Given the description of an element on the screen output the (x, y) to click on. 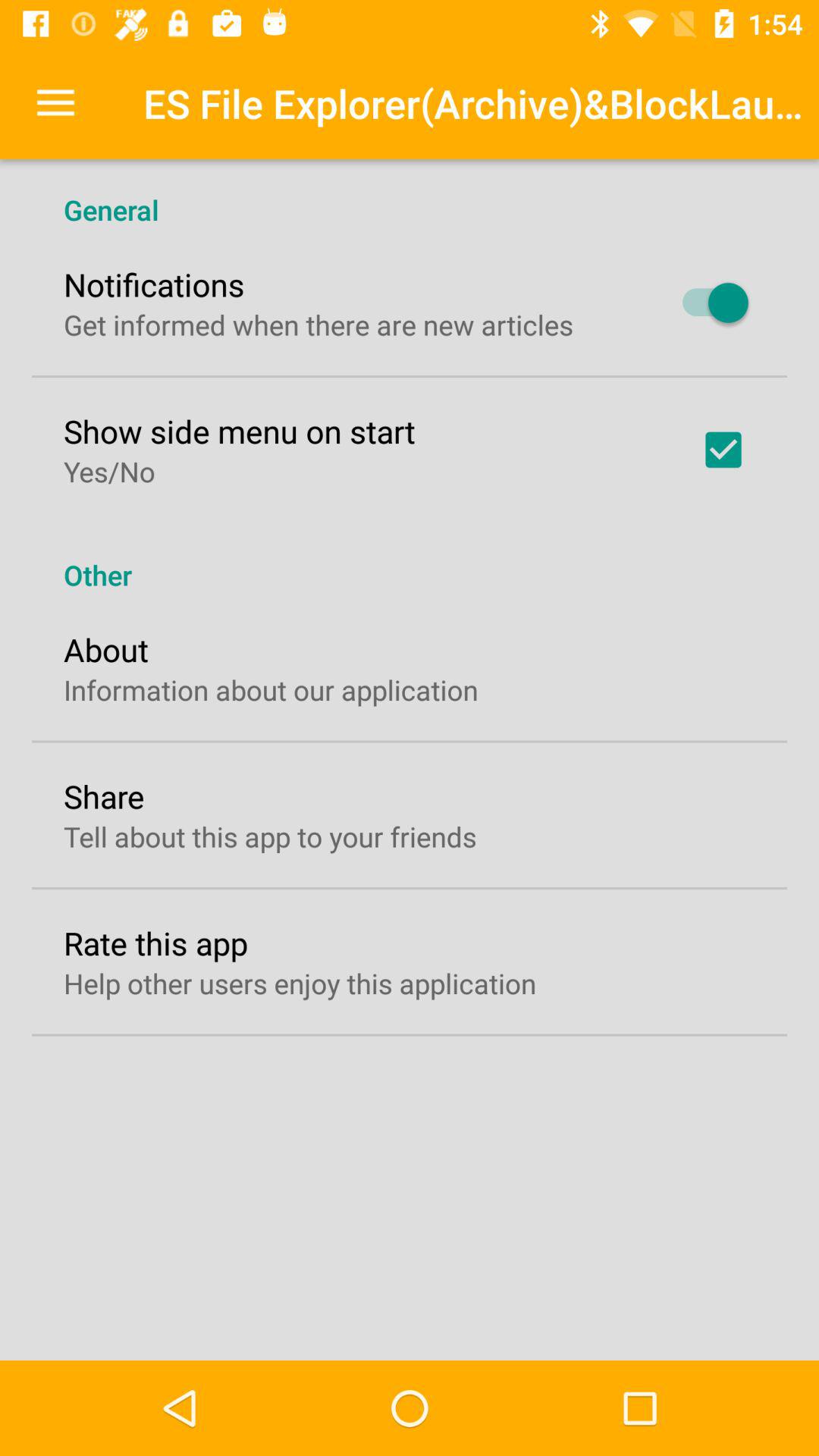
tap item next to the show side menu item (723, 449)
